Given the description of an element on the screen output the (x, y) to click on. 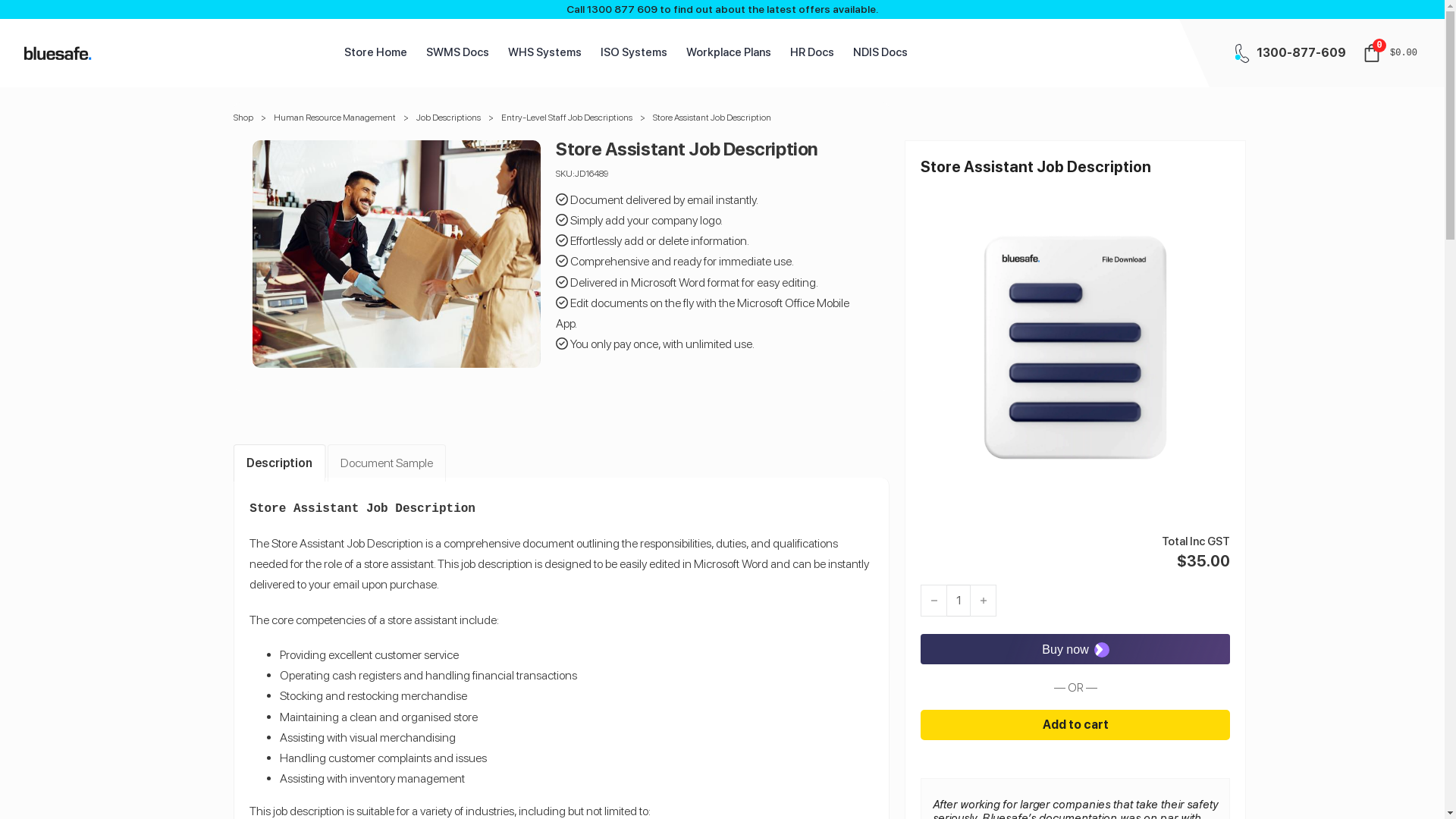
Description Element type: text (279, 462)
1300-877-609 Element type: text (1301, 52)
ISO Systems Element type: text (633, 52)
NDIS Docs Element type: text (880, 52)
Shop Element type: text (243, 117)
Job Descriptions Element type: text (448, 117)
Workplace Plans Element type: text (728, 52)
WHS Systems Element type: text (544, 52)
Secure payment button frame Element type: hover (1075, 648)
Document Sample Element type: text (386, 462)
Add to cart Element type: text (1075, 724)
HR Docs Element type: text (812, 52)
SWMS Docs Element type: text (457, 52)
Human Resource Management Element type: text (334, 117)
Store Home Element type: text (375, 52)
Entry-Level Staff Job Descriptions Element type: text (566, 117)
